Given the description of an element on the screen output the (x, y) to click on. 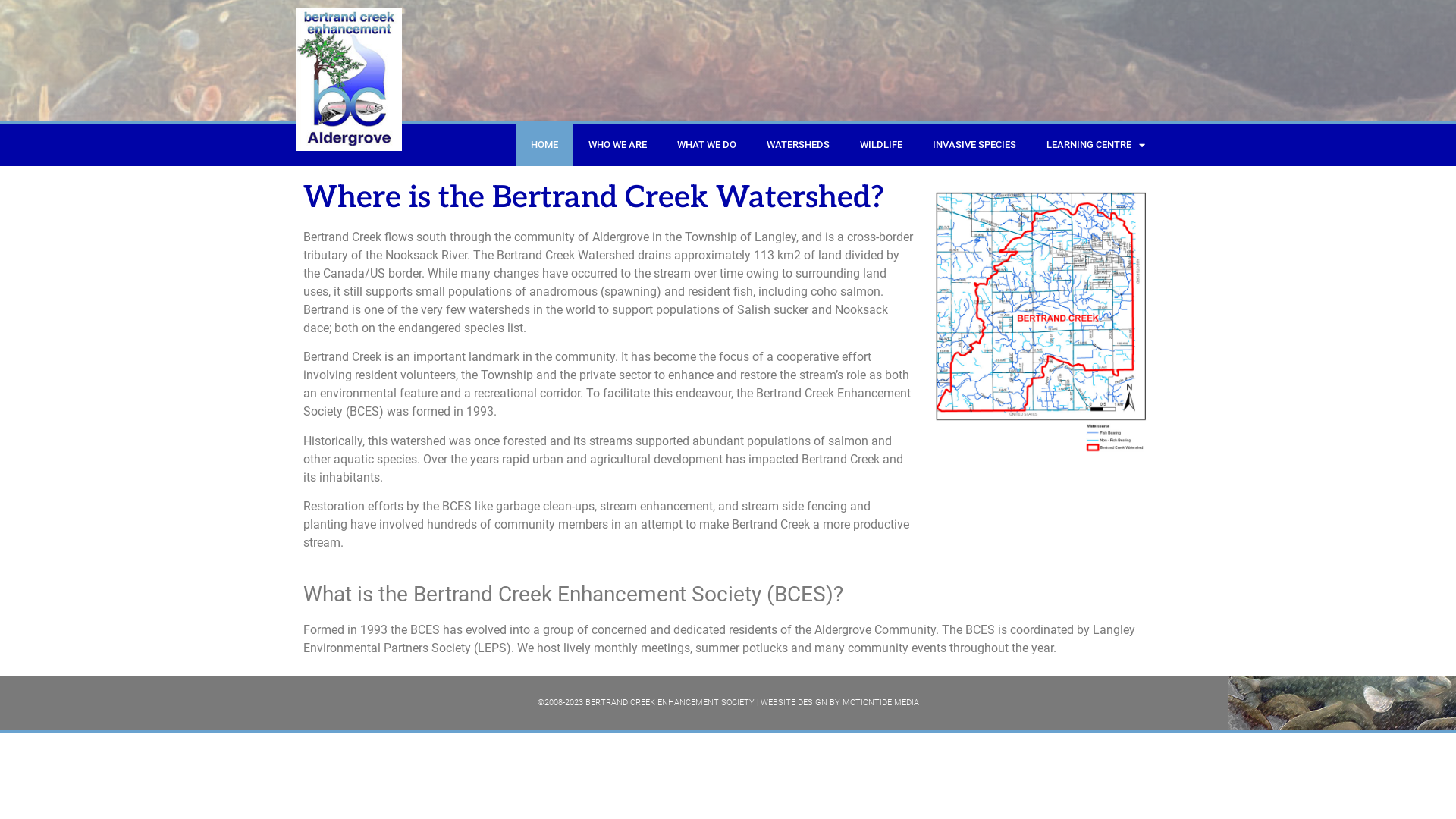
LEARNING CENTRE Element type: text (1095, 144)
WATERSHEDS Element type: text (797, 144)
INVASIVE SPECIES Element type: text (974, 144)
WHAT WE DO Element type: text (706, 144)
HOME Element type: text (544, 144)
MOTIONTIDE MEDIA Element type: text (879, 702)
WHO WE ARE Element type: text (617, 144)
WEBSITE DESIGN Element type: text (792, 702)
WILDLIFE Element type: text (880, 144)
